Given the description of an element on the screen output the (x, y) to click on. 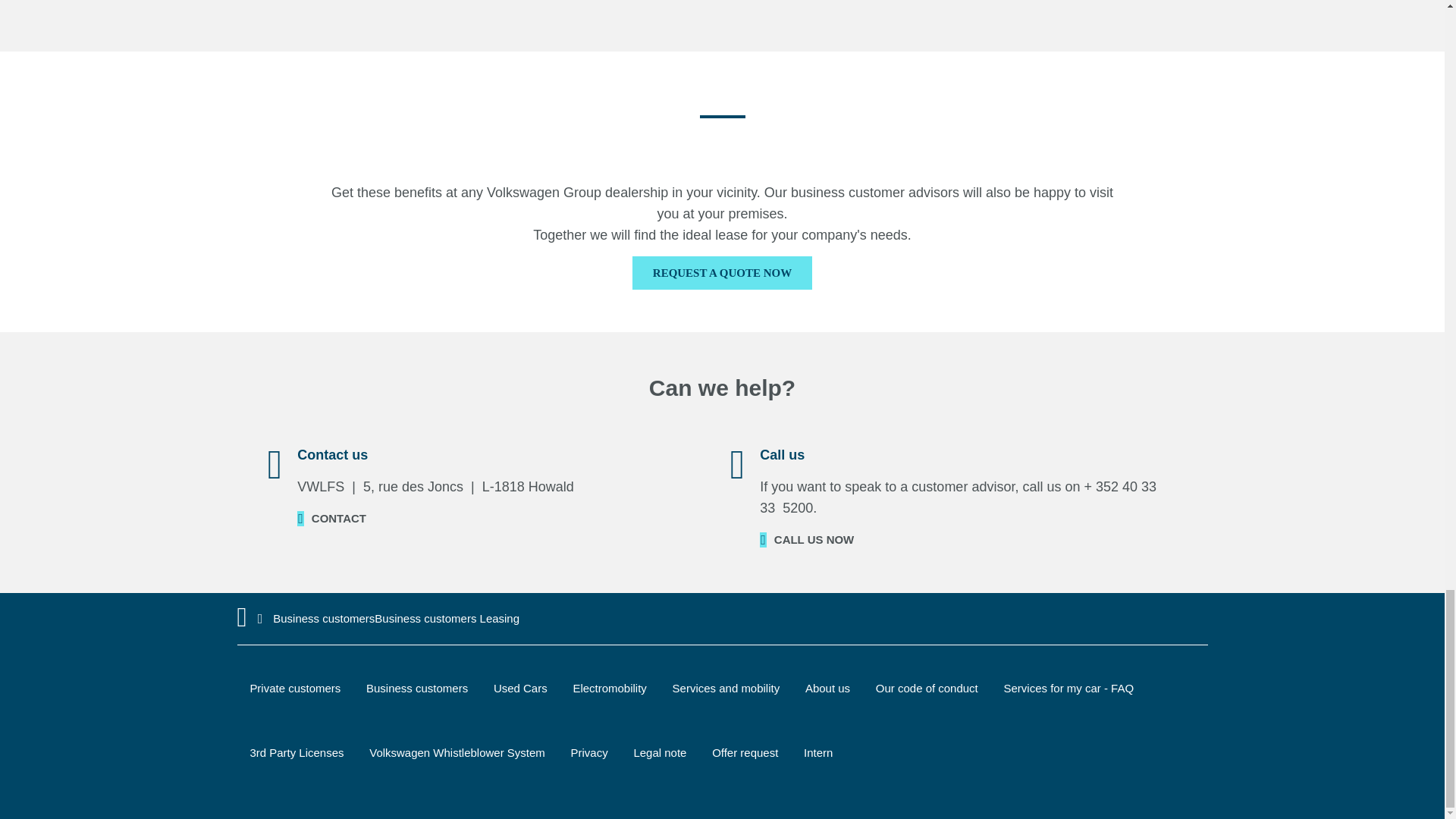
Services and mobility (726, 687)
Private customers (294, 687)
Our code of conduct (927, 687)
CONTACT (331, 518)
Offer request (744, 752)
Legal note (659, 752)
3rd Party Licenses (295, 752)
Electromobility (609, 687)
Used Cars (520, 687)
Volkswagen Whistleblower System (456, 752)
About us (827, 687)
Intern (817, 752)
CALL US NOW (806, 538)
Business customers (416, 687)
Privacy (589, 752)
